Given the description of an element on the screen output the (x, y) to click on. 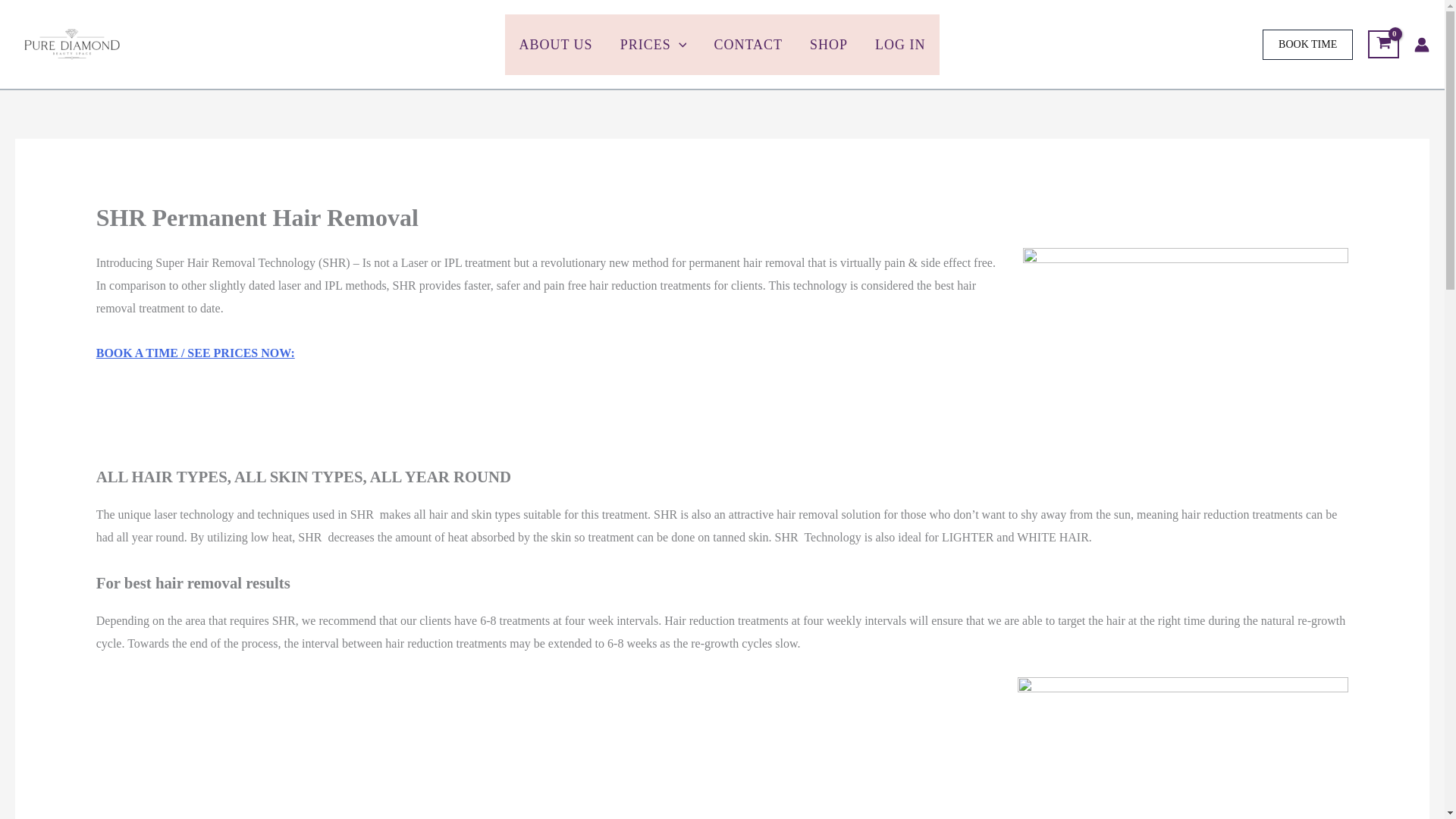
CONTACT (748, 43)
ABOUT US (555, 43)
BOOK TIME (1307, 43)
LOG IN (900, 43)
PRICES (653, 43)
SHOP (828, 43)
